Given the description of an element on the screen output the (x, y) to click on. 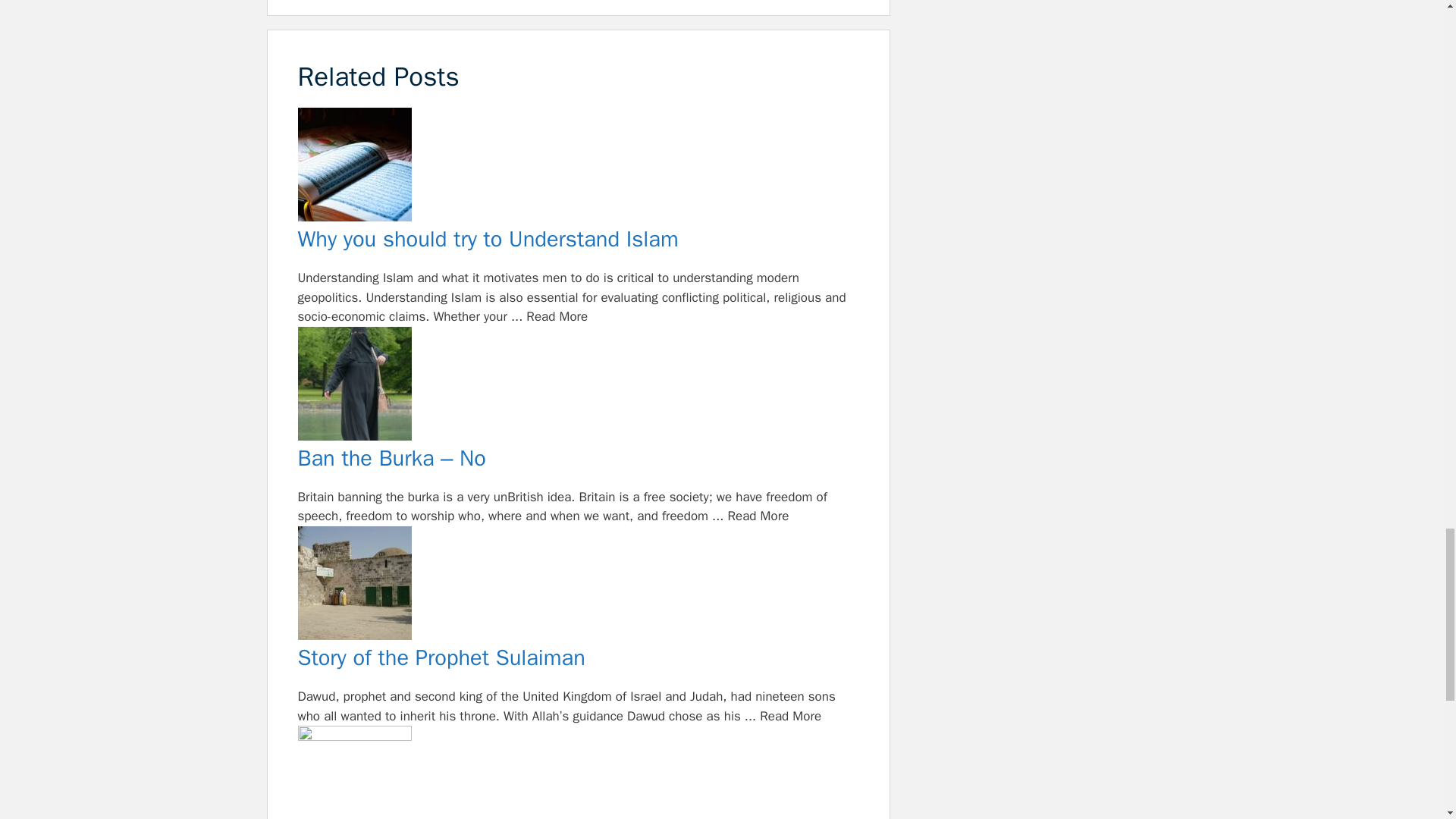
Why you should try to Understand Islam (578, 167)
Islam as the Worlds only Religion (578, 772)
Story of the Prophet Sulaiman (578, 658)
Why you should try to Understand Islam (578, 239)
Story of the Prophet Sulaiman (578, 586)
